Given the description of an element on the screen output the (x, y) to click on. 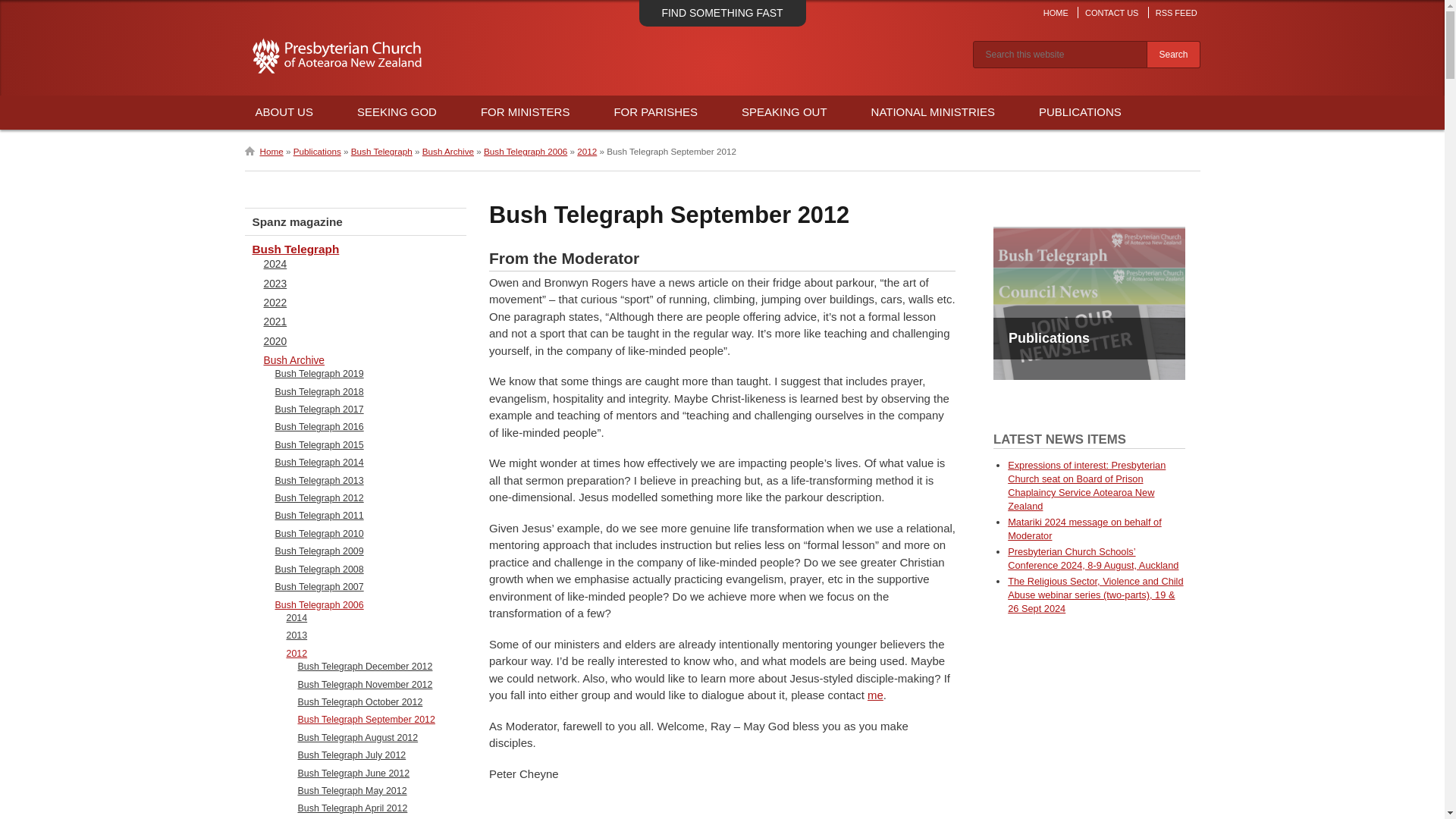
Bush Telegraph (381, 151)
me (875, 694)
2012 (586, 151)
Bush Telegraph 2006 (525, 151)
SPEAKING OUT (784, 112)
ABOUT US (284, 112)
Search (1173, 53)
FOR PARISHES (655, 112)
SEEKING GOD (397, 112)
PUBLICATIONS (1079, 112)
Home (263, 151)
FOR MINISTERS (524, 112)
HOME (1055, 12)
Bush Archive (448, 151)
Get RSS Feed (1176, 12)
